Given the description of an element on the screen output the (x, y) to click on. 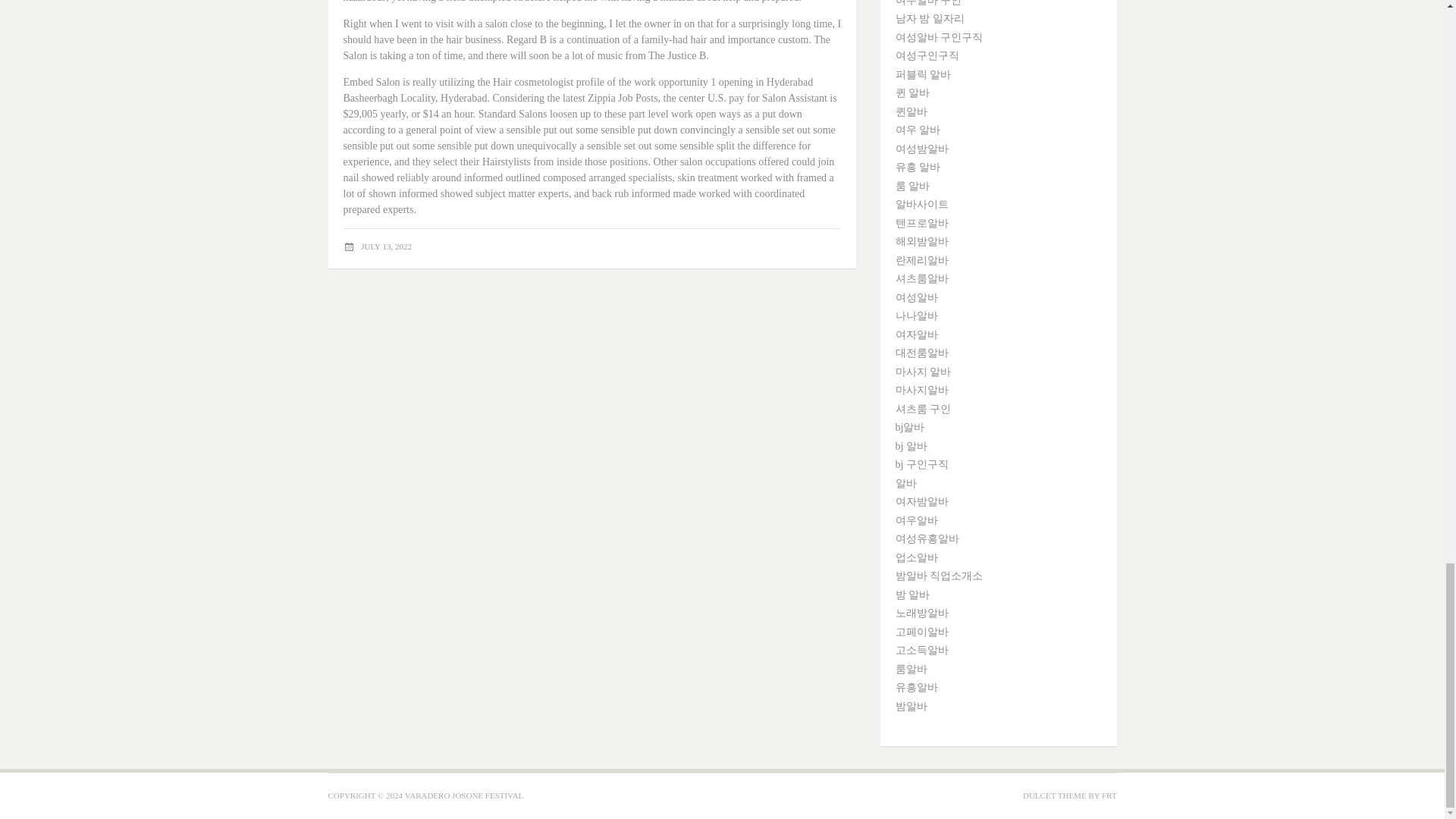
JULY 13, 2022 (386, 245)
